Given the description of an element on the screen output the (x, y) to click on. 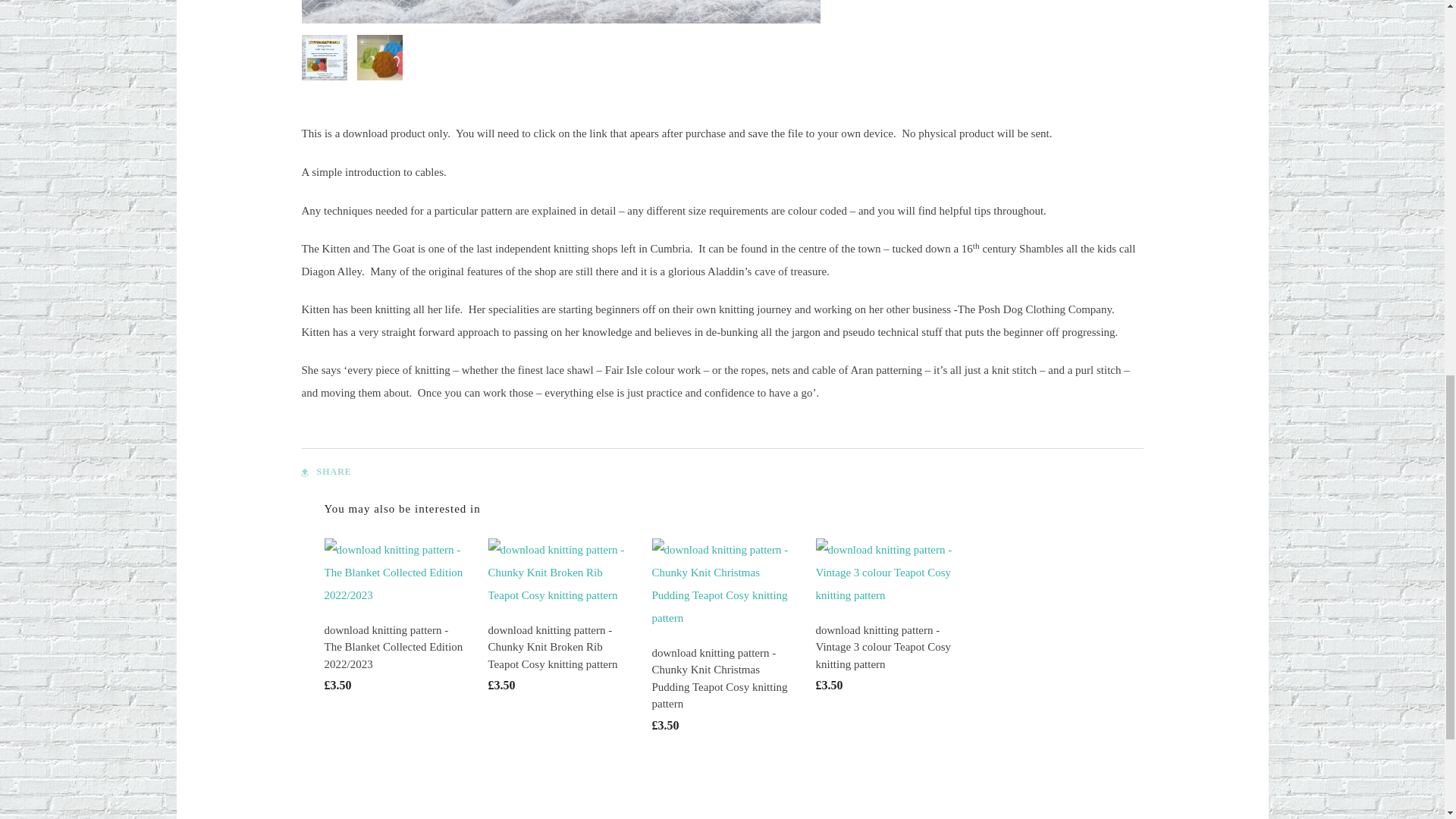
SHARE (326, 472)
